Given the description of an element on the screen output the (x, y) to click on. 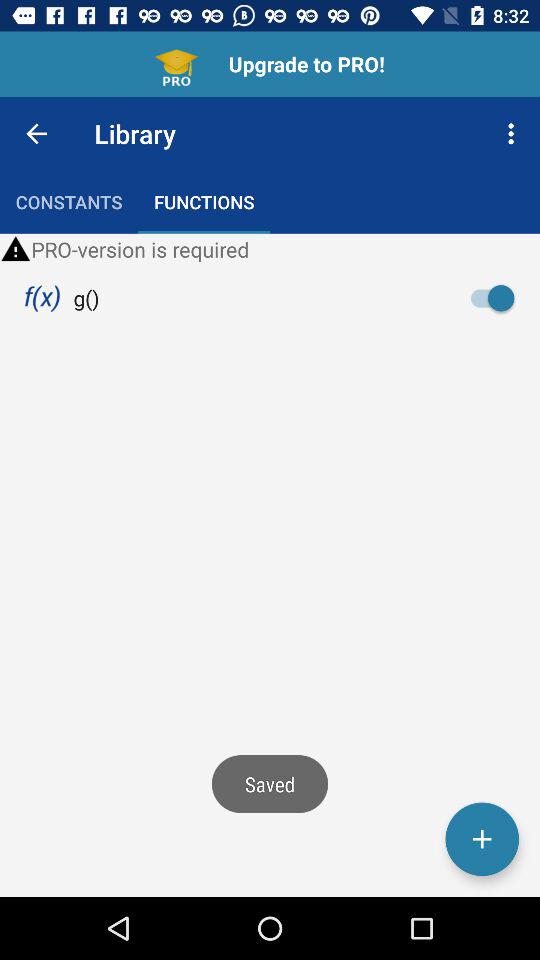
turn on the icon above constants (36, 133)
